Given the description of an element on the screen output the (x, y) to click on. 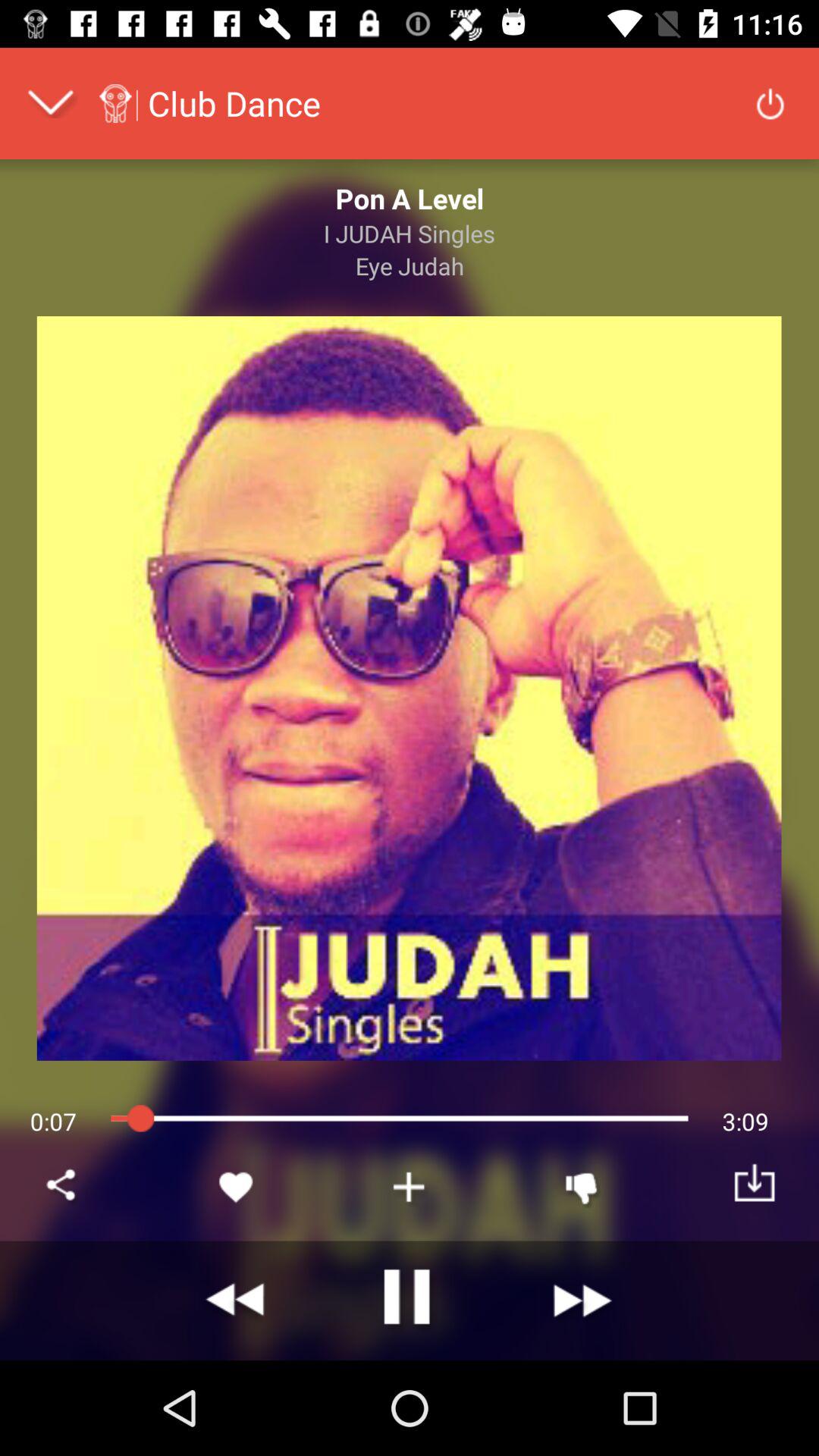
share this music (63, 1186)
